Given the description of an element on the screen output the (x, y) to click on. 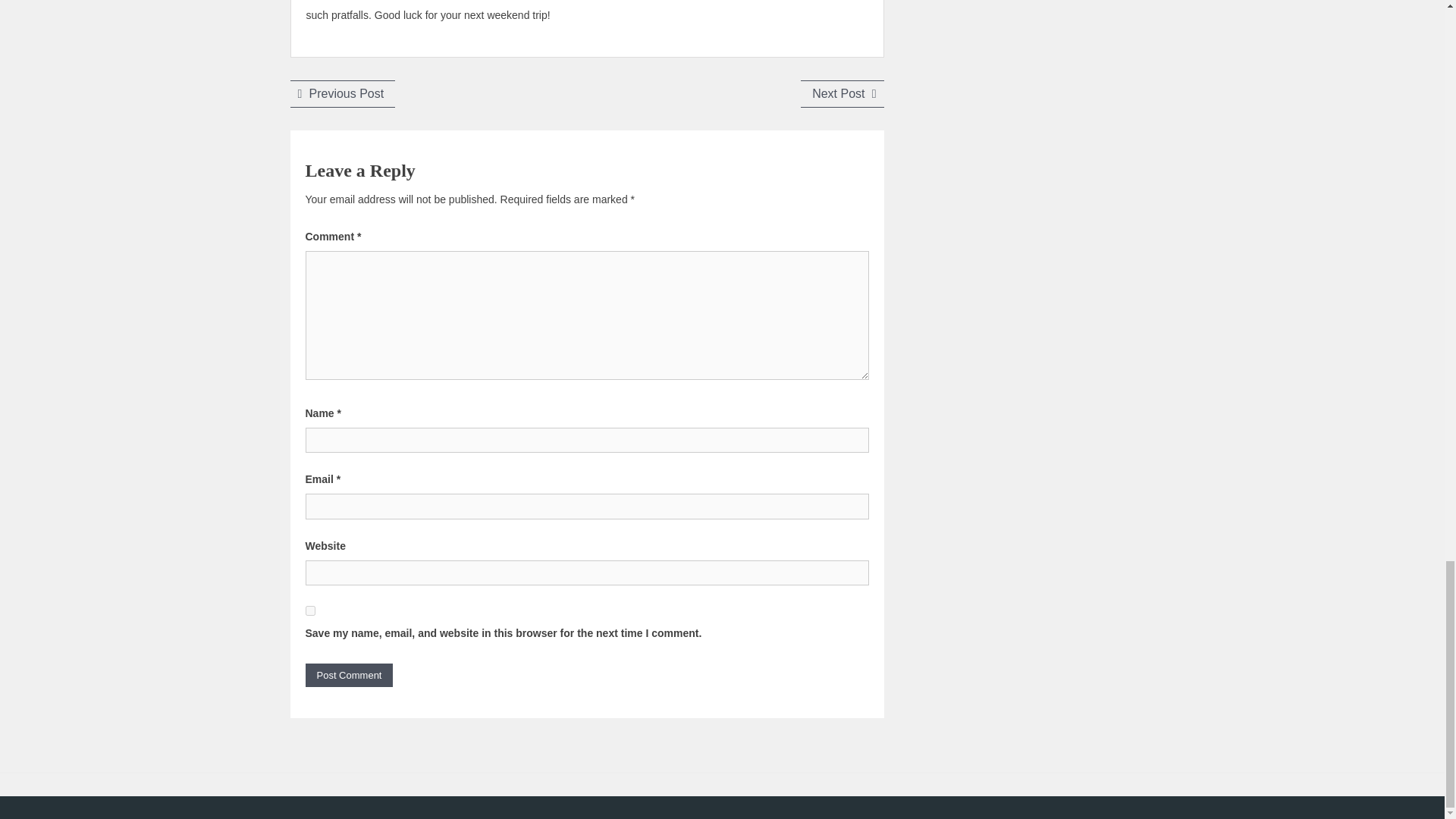
Post Comment (341, 93)
Post Comment (348, 675)
yes (348, 675)
